Given the description of an element on the screen output the (x, y) to click on. 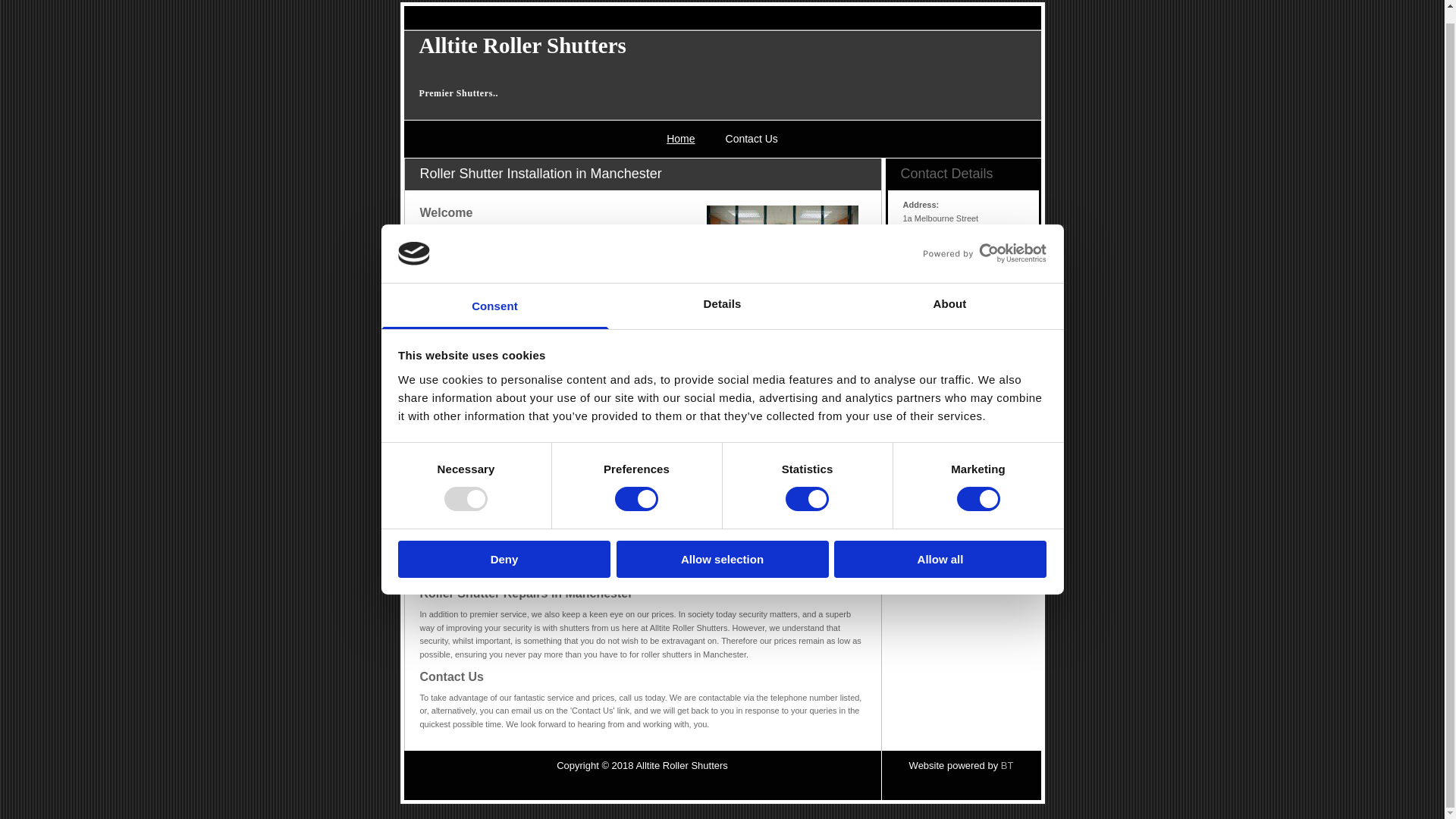
Contact Us (751, 139)
Alltite Roller Shutters (522, 45)
Home (680, 139)
Details (721, 293)
0161 681 6775 (930, 275)
BT (1007, 765)
Allow all (940, 546)
Deny (503, 546)
Allow selection (721, 546)
Consent (494, 293)
About (948, 293)
